Given the description of an element on the screen output the (x, y) to click on. 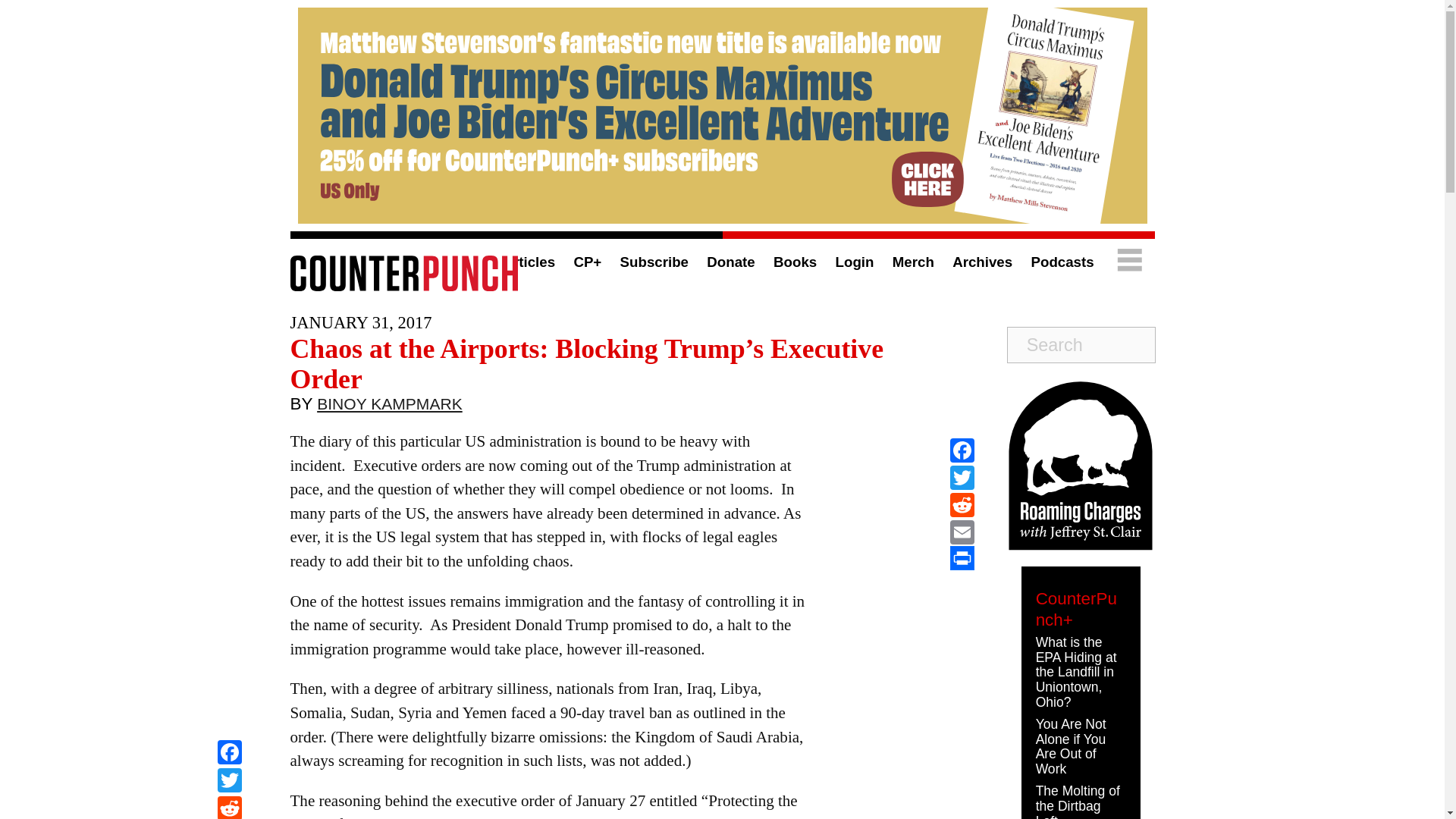
Facebook (229, 754)
Articles (528, 261)
Email (962, 532)
Podcasts (1061, 261)
Donate (730, 261)
Twitter (962, 477)
Subscribe (654, 261)
Merch (913, 261)
Facebook (962, 450)
Reddit (229, 807)
BINOY KAMPMARK (390, 407)
Reddit (229, 807)
Twitter (229, 782)
Print This Post (962, 558)
Login (855, 261)
